Given the description of an element on the screen output the (x, y) to click on. 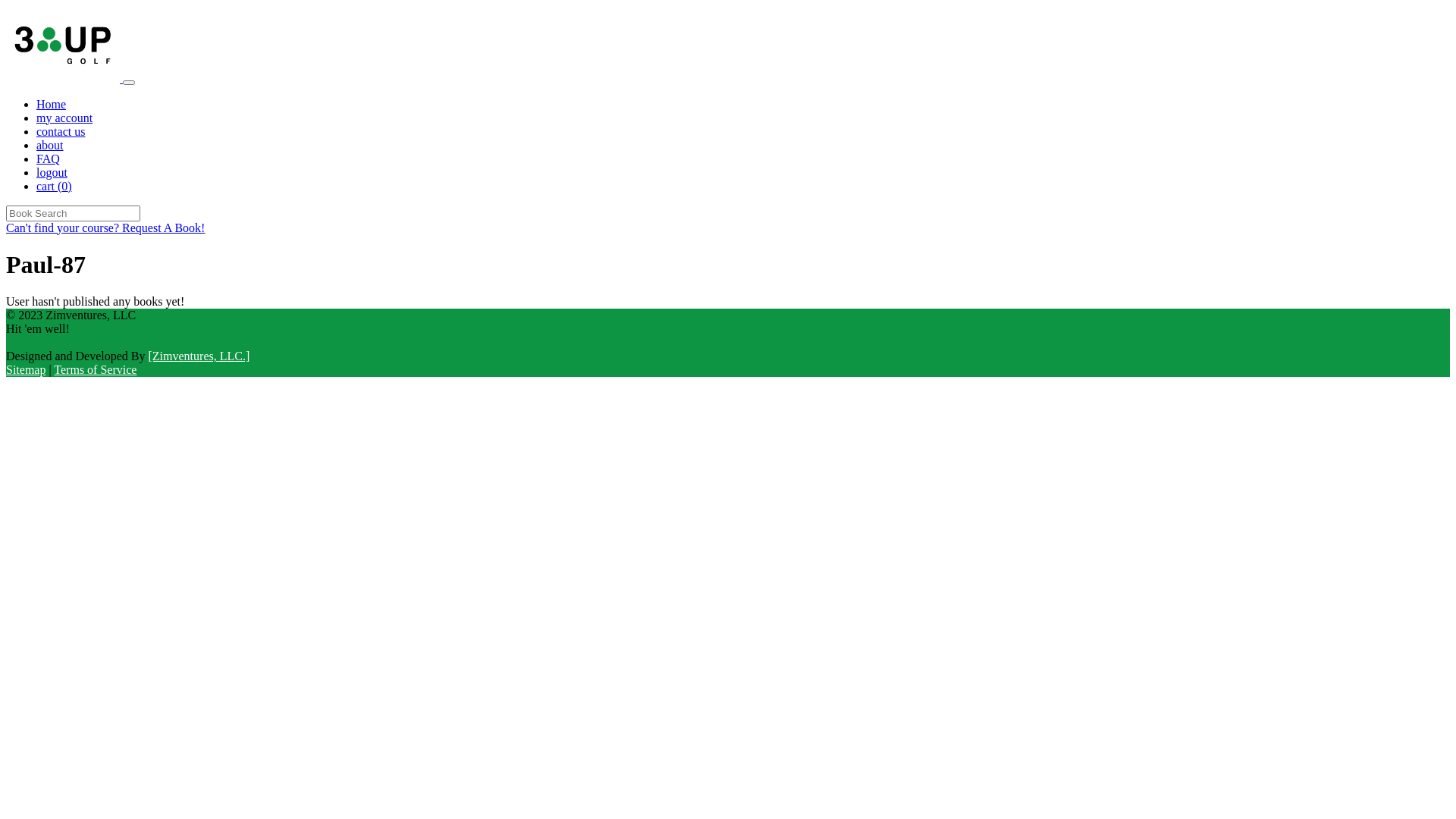
Home Element type: text (50, 103)
contact us Element type: text (60, 131)
[Zimventures, LLC.] Element type: text (199, 355)
about Element type: text (49, 144)
Can't find your course? Request A Book! Element type: text (105, 227)
FAQ Element type: text (47, 158)
logout Element type: text (51, 172)
Sitemap Element type: text (25, 369)
my account Element type: text (64, 117)
cart (0) Element type: text (54, 185)
Terms of Service Element type: text (94, 369)
